Given the description of an element on the screen output the (x, y) to click on. 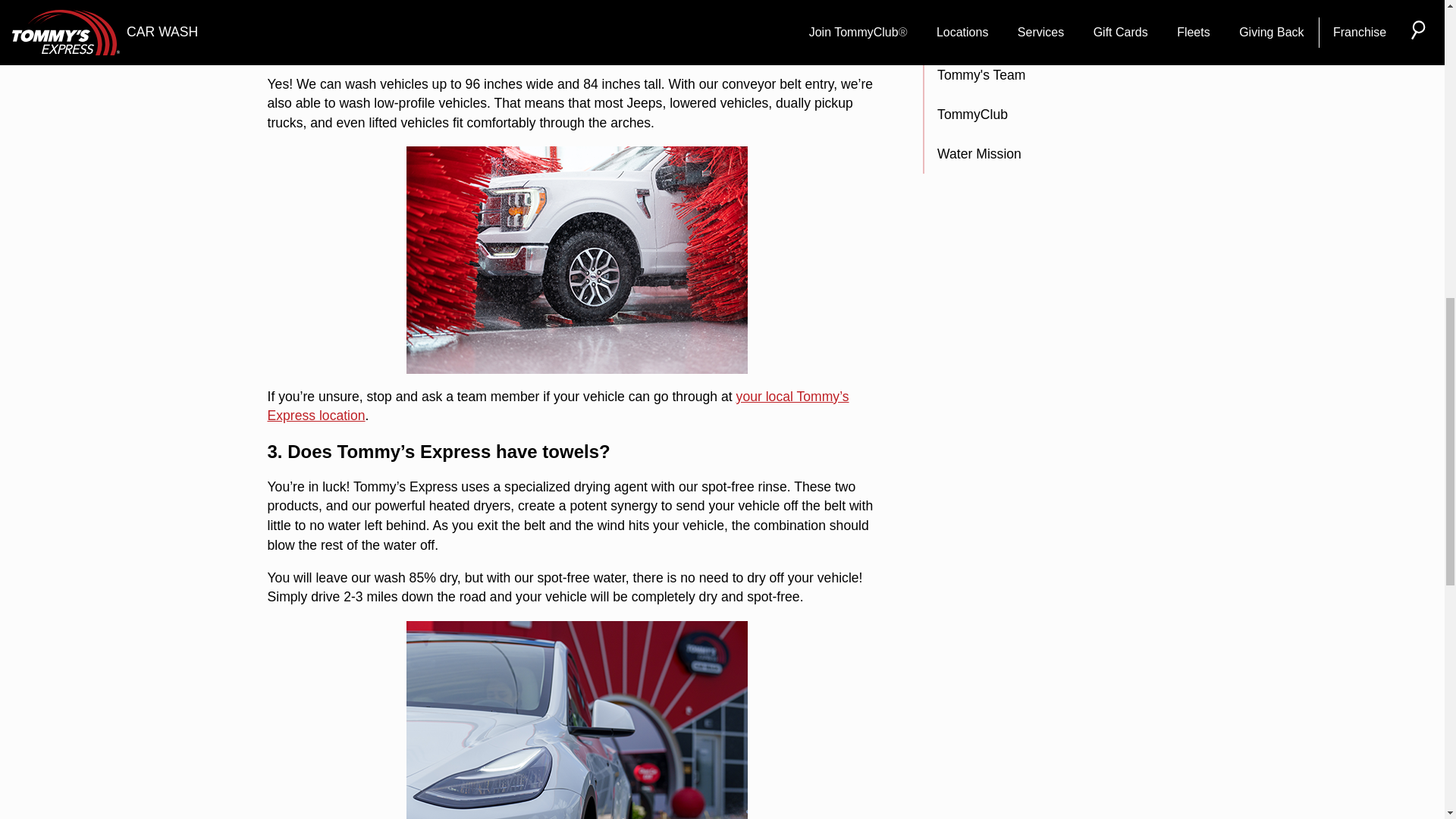
News (1048, 8)
TommyClub (1048, 115)
Serving Communities (1048, 36)
Tommy's Team (1048, 75)
